Given the description of an element on the screen output the (x, y) to click on. 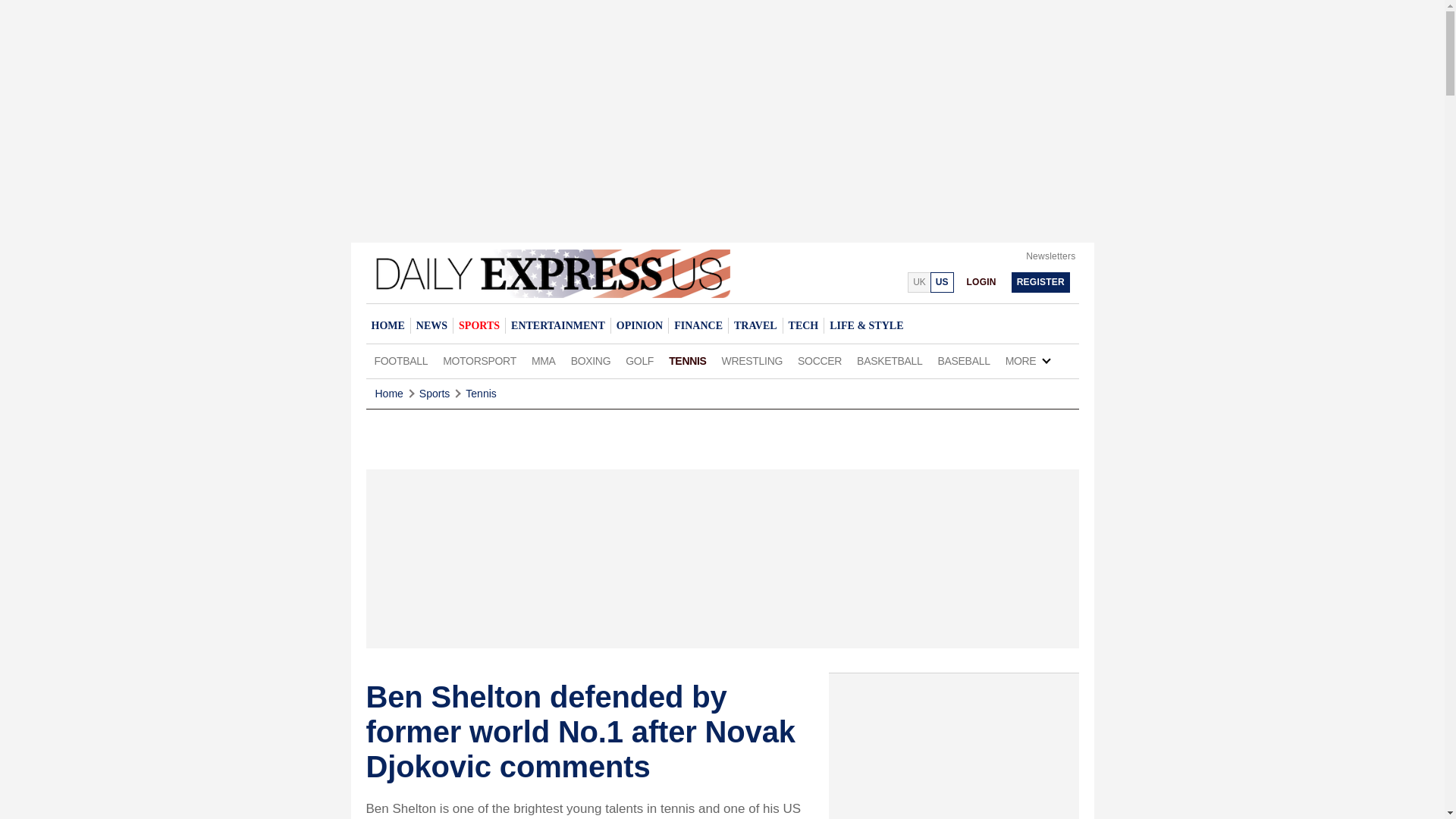
HOME (387, 325)
SPORTS (478, 325)
Find us on Facebook (856, 281)
TRAVEL (755, 325)
US (941, 281)
Express.co.uk (918, 281)
WRESTLING (752, 361)
the-express.com (941, 281)
Tennis (480, 393)
ENTERTAINMENT (557, 325)
